Given the description of an element on the screen output the (x, y) to click on. 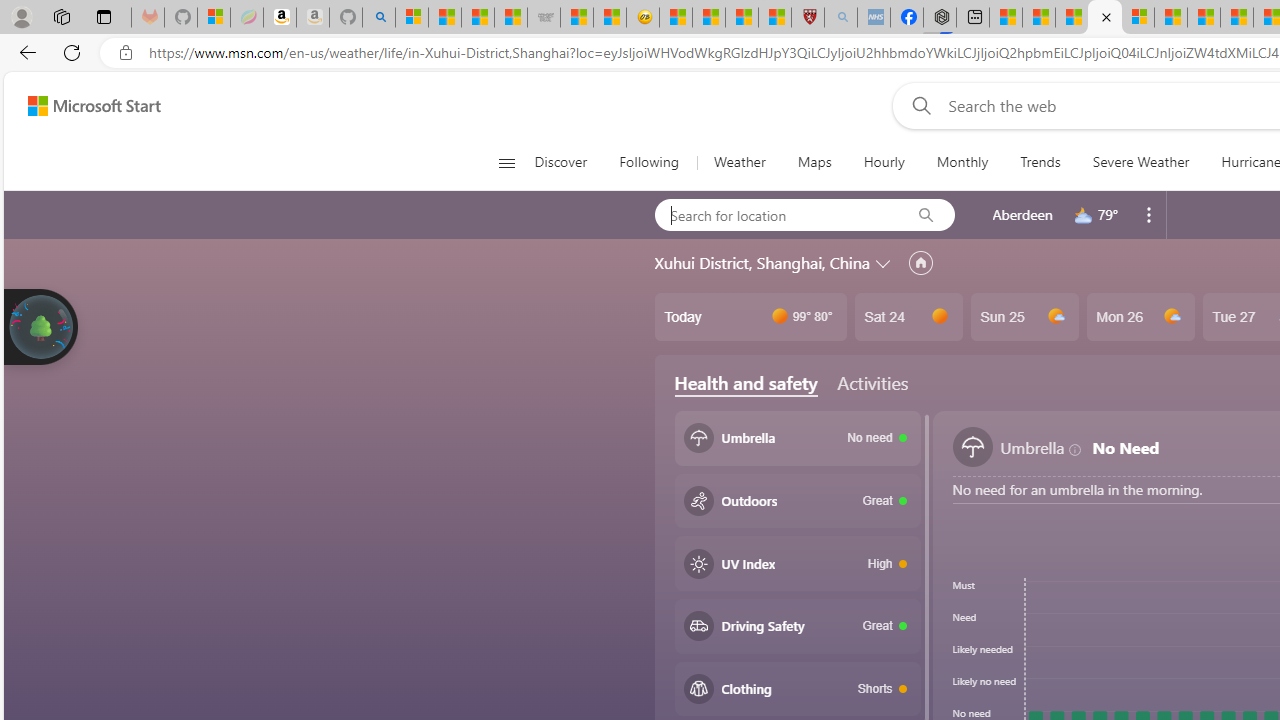
Trends (1040, 162)
Outdoors Great (797, 501)
Mon 26 (1140, 317)
Aberdeen (1022, 214)
Sat 24 (907, 317)
Xuhui District, Shanghai, China (762, 263)
Monthly (962, 162)
